Given the description of an element on the screen output the (x, y) to click on. 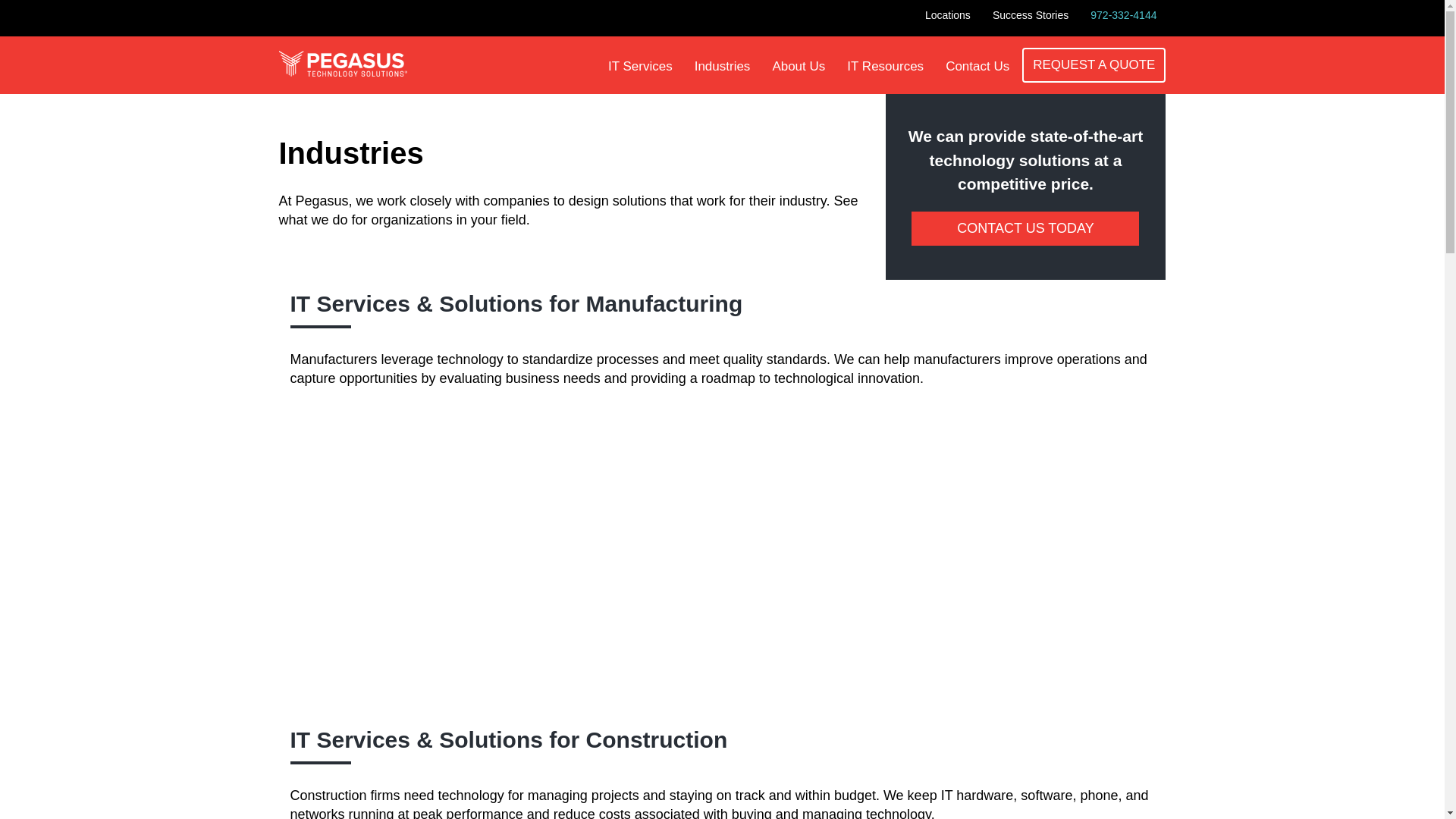
Success Stories (1030, 15)
About Us (798, 65)
972-332-4144 (1123, 15)
IT Resources (885, 65)
Locations (947, 15)
Contact Us (976, 65)
IT Services (639, 65)
Industries (722, 65)
